Given the description of an element on the screen output the (x, y) to click on. 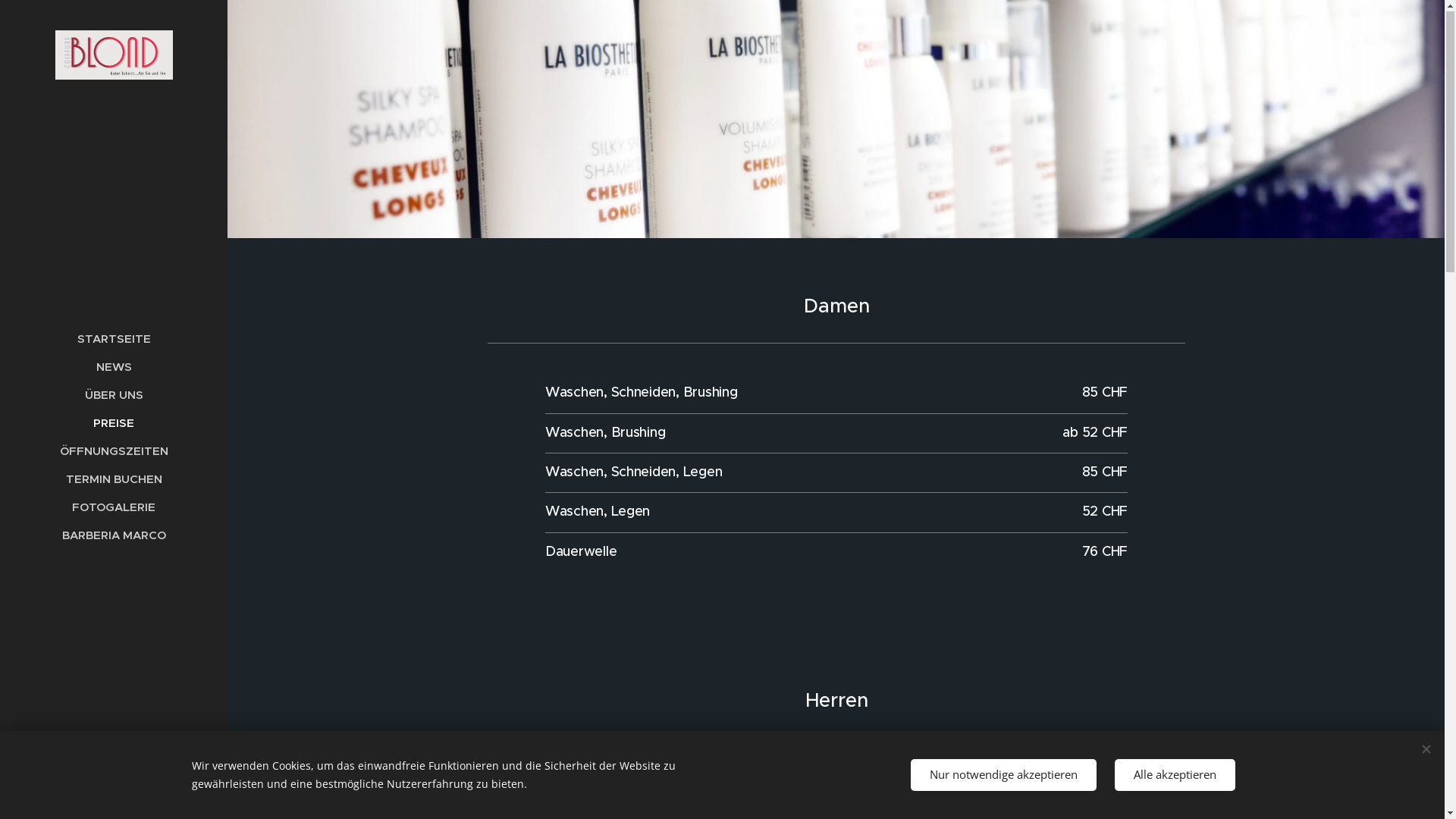
BARBERIA MARCO Element type: text (113, 535)
Cookies Element type: text (113, 796)
STARTSEITE Element type: text (113, 339)
Alle akzeptieren Element type: text (1174, 774)
NEWS Element type: text (113, 367)
TERMIN BUCHEN Element type: text (113, 479)
PREISE Element type: text (113, 423)
Nur notwendige akzeptieren Element type: text (1002, 774)
FOTOGALERIE Element type: text (113, 507)
